Given the description of an element on the screen output the (x, y) to click on. 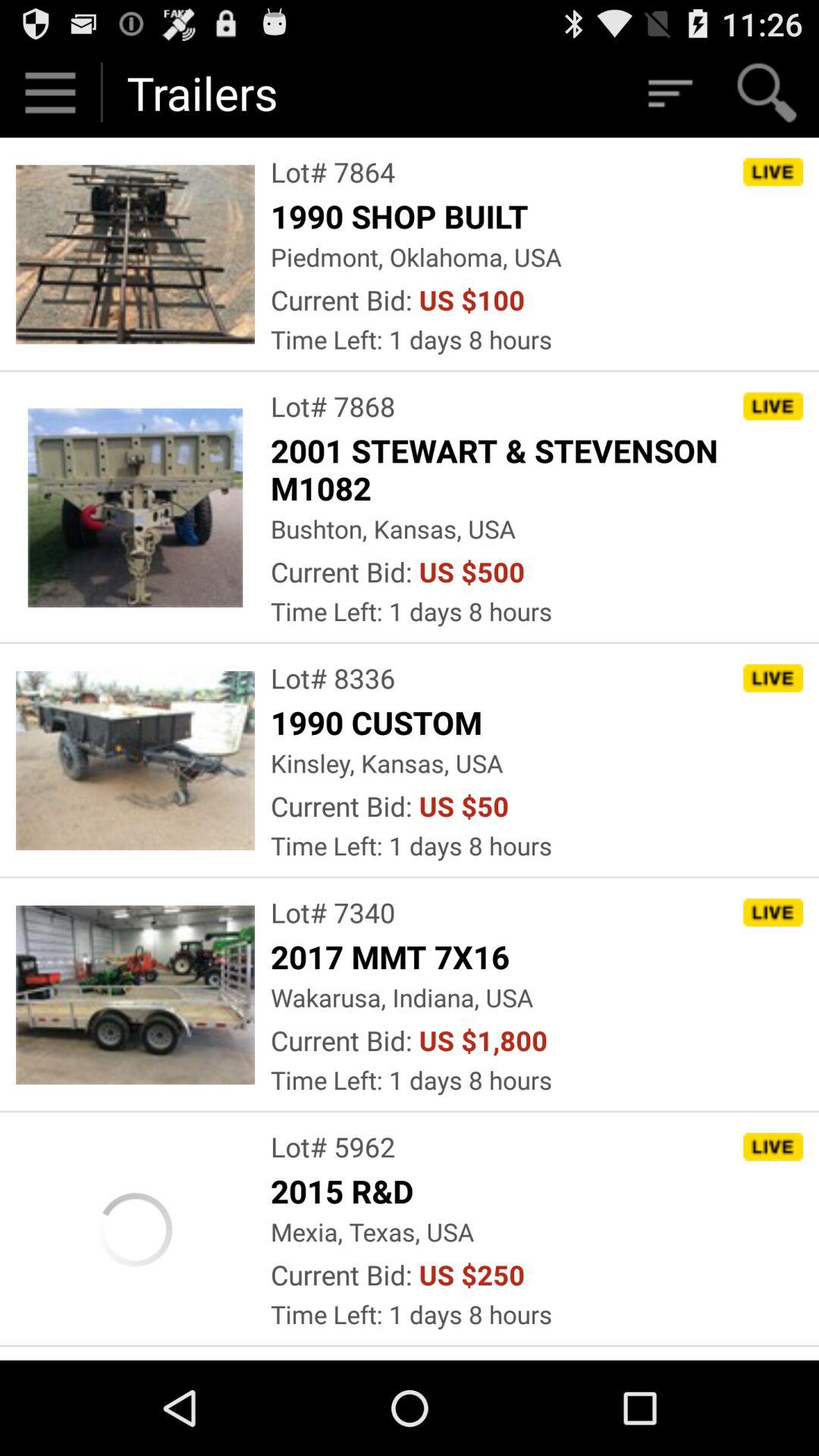
select piedmont, oklahoma, usa app (415, 256)
